Given the description of an element on the screen output the (x, y) to click on. 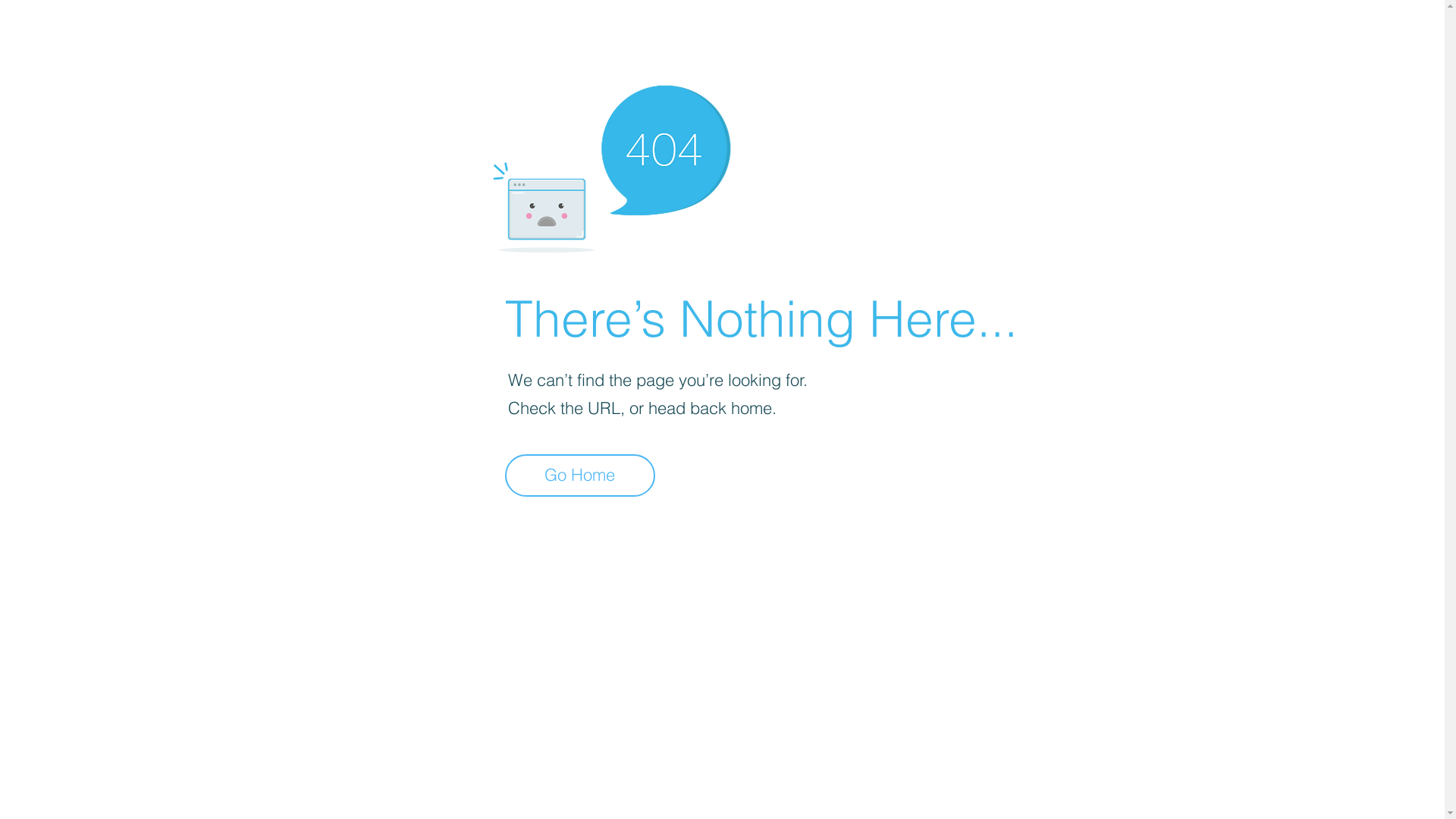
404-icon_2.png Element type: hover (610, 164)
Go Home Element type: text (580, 475)
